Given the description of an element on the screen output the (x, y) to click on. 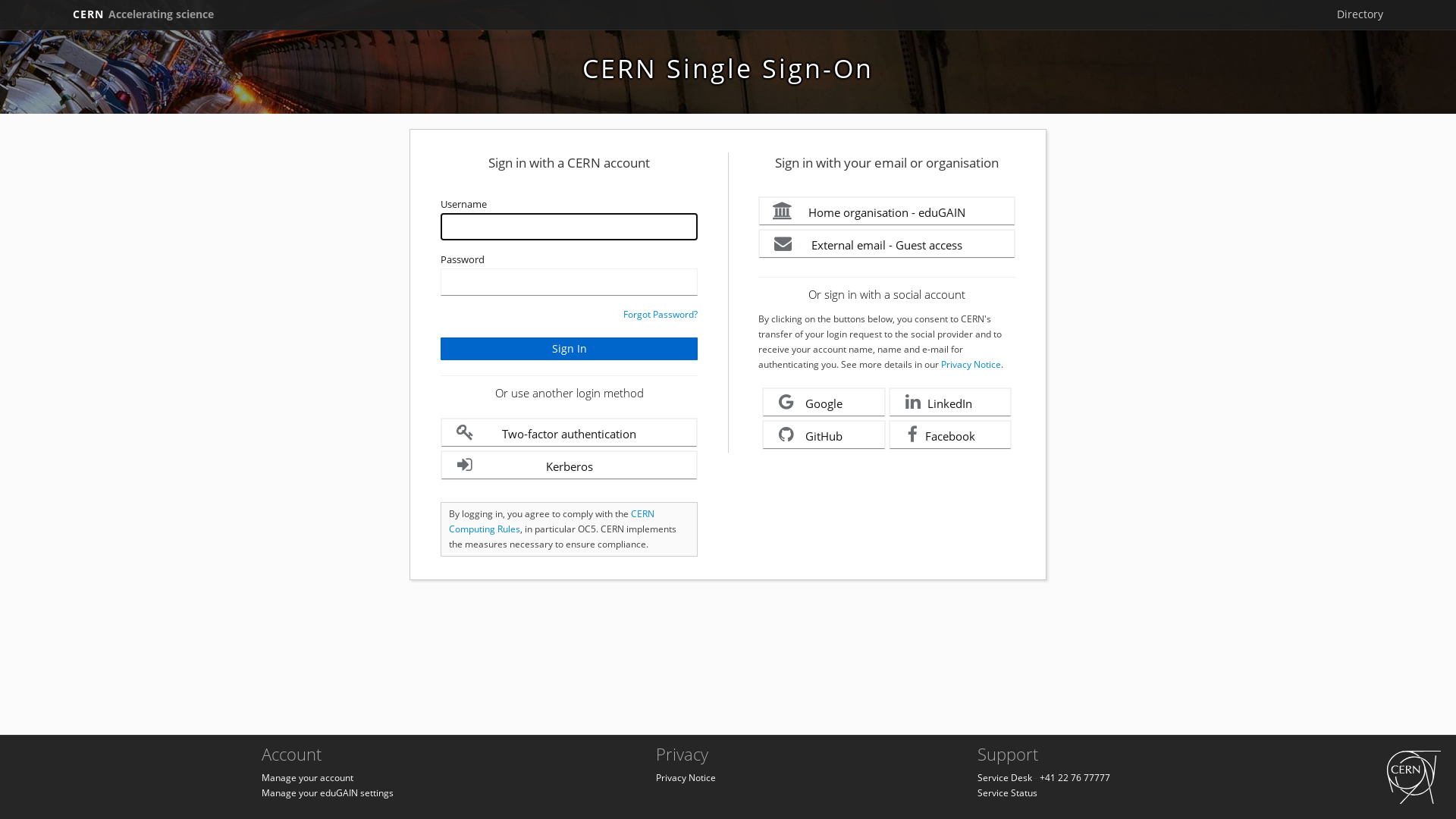
Service Desk Element type: text (1004, 777)
Home organisation - eduGAIN Element type: text (886, 210)
Two-factor authentication Element type: text (568, 432)
Service Status Element type: text (1007, 792)
Manage your account Element type: text (307, 777)
Manage your eduGAIN settings Element type: text (327, 792)
Privacy Notice Element type: text (971, 363)
Directory Element type: text (1359, 14)
Kerberos Element type: text (568, 465)
+41 22 76 77777 Element type: text (1074, 777)
Sign In Element type: text (568, 348)
CERN Accelerating science Element type: text (142, 14)
Facebook Element type: text (950, 434)
LinkedIn Element type: text (950, 402)
Forgot Password? Element type: text (660, 313)
Privacy Notice Element type: text (685, 777)
GitHub Element type: text (823, 434)
Google Element type: text (823, 402)
CERN Computing Rules Element type: text (551, 521)
External email - Guest access Element type: text (886, 243)
